Given the description of an element on the screen output the (x, y) to click on. 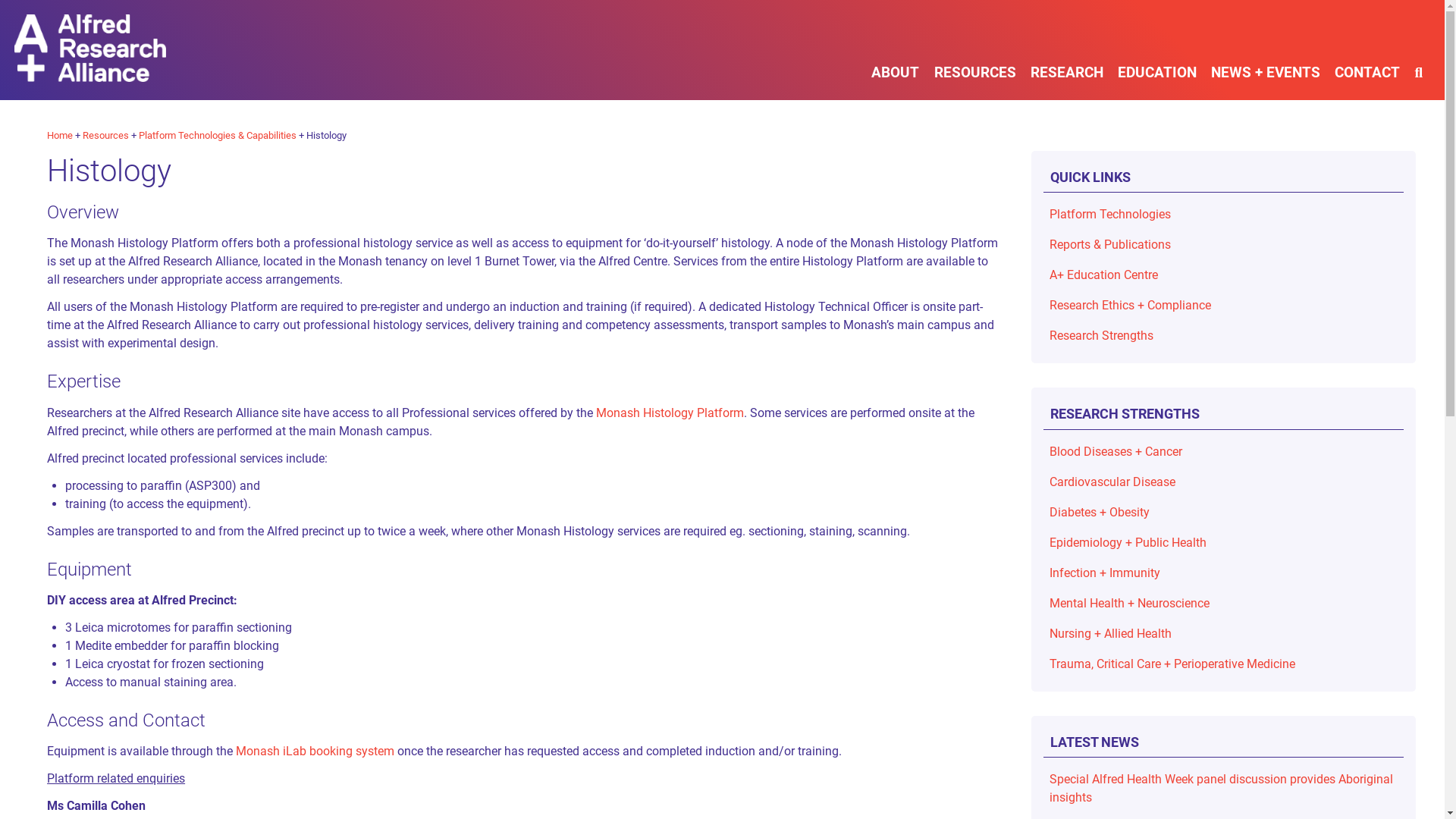
Cardiovascular Disease Element type: text (1223, 482)
Platform Technologies Element type: text (1223, 214)
Blood Diseases + Cancer Element type: text (1223, 451)
Home Element type: text (59, 135)
Research Ethics + Compliance Element type: text (1223, 305)
RESEARCH Element type: text (1066, 68)
Diabetes + Obesity Element type: text (1223, 512)
Reports & Publications Element type: text (1223, 244)
RESOURCES Element type: text (974, 68)
Infection + Immunity Element type: text (1223, 573)
CONTACT Element type: text (1367, 68)
Monash Histology Platform Element type: text (669, 412)
ABOUT Element type: text (895, 68)
Research Strengths Element type: text (1223, 335)
Epidemiology + Public Health Element type: text (1223, 542)
Resources Element type: text (105, 135)
Platform Technologies & Capabilities Element type: text (217, 135)
NEWS + EVENTS Element type: text (1265, 68)
Monash iLab booking system Element type: text (314, 750)
A+ Education Centre Element type: text (1223, 275)
Nursing + Allied Health Element type: text (1223, 633)
EDUCATION Element type: text (1156, 68)
Trauma, Critical Care + Perioperative Medicine Element type: text (1223, 664)
Mental Health + Neuroscience Element type: text (1223, 603)
